Given the description of an element on the screen output the (x, y) to click on. 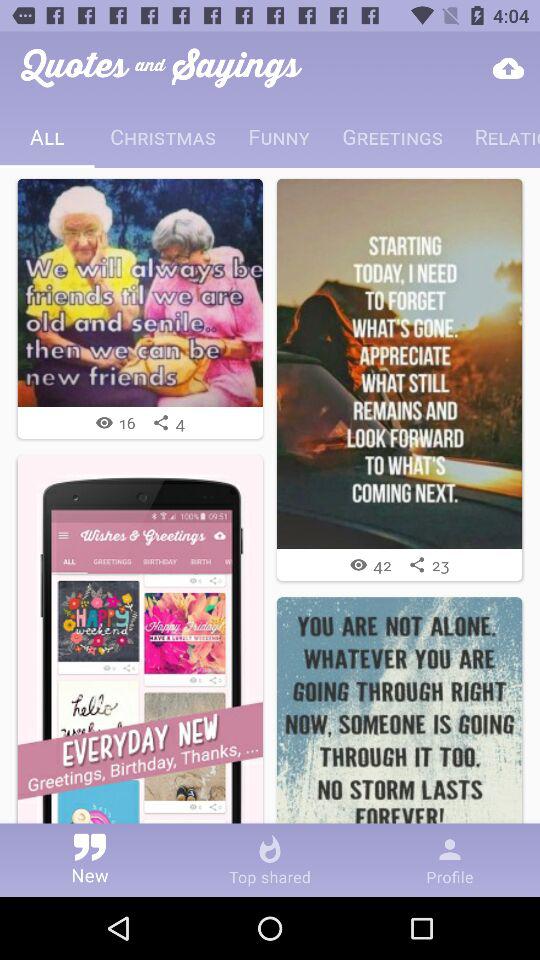
select image (399, 719)
